Given the description of an element on the screen output the (x, y) to click on. 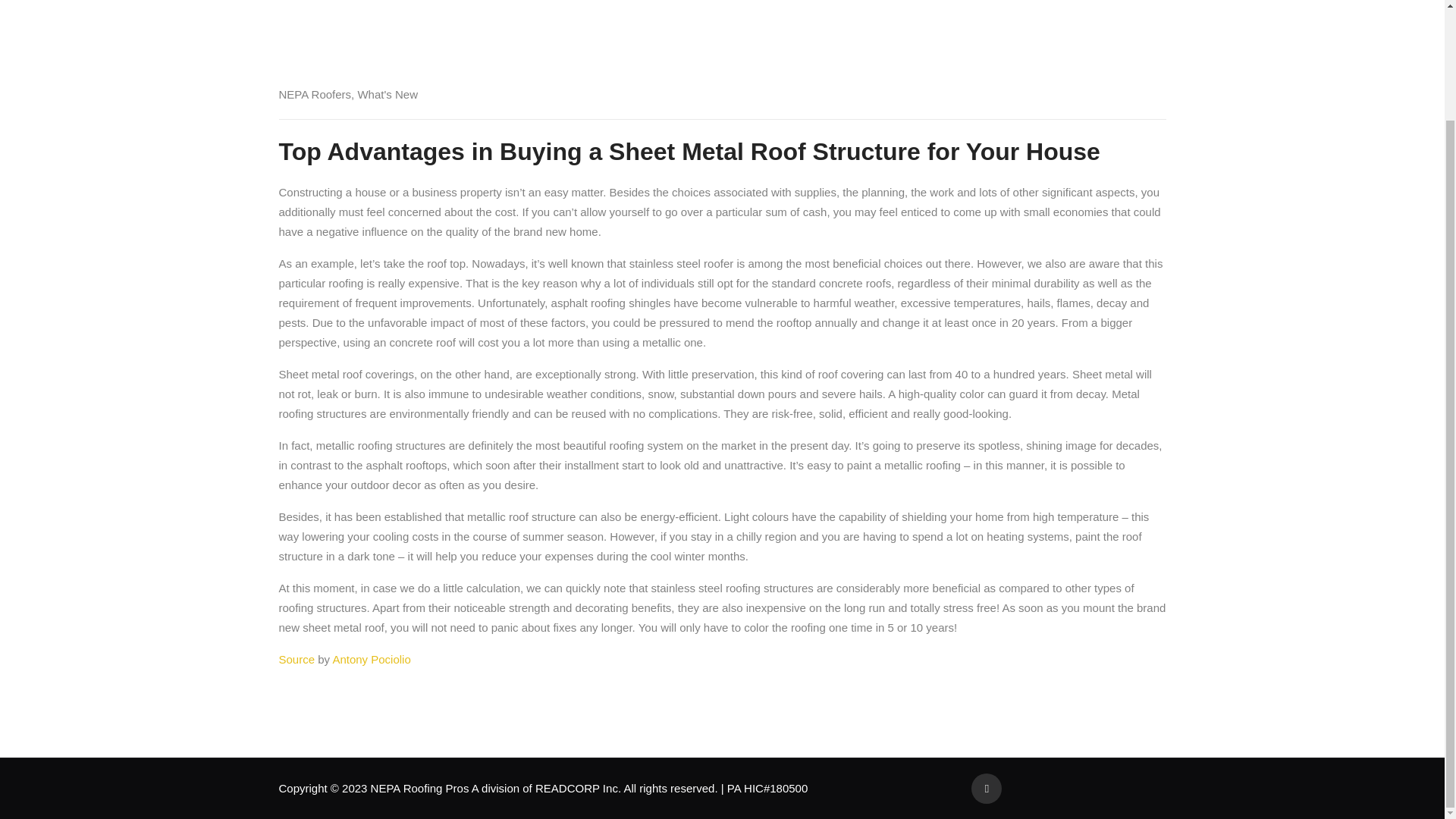
Source (297, 658)
NEPA Roofers (315, 93)
Antony Pociolio (370, 658)
What'S New (386, 93)
